Given the description of an element on the screen output the (x, y) to click on. 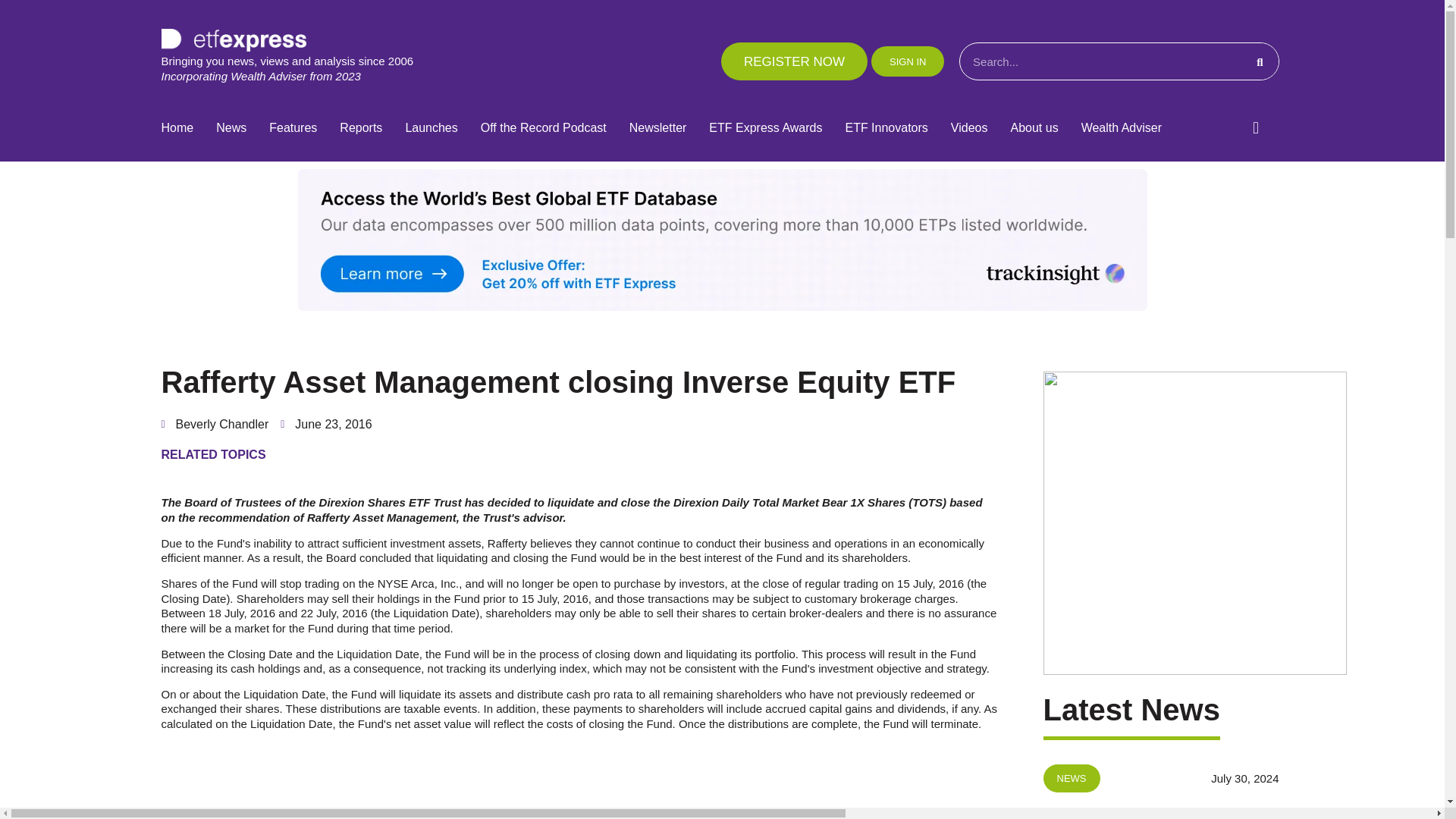
SIGN IN (906, 60)
REGISTER NOW (793, 61)
